Given the description of an element on the screen output the (x, y) to click on. 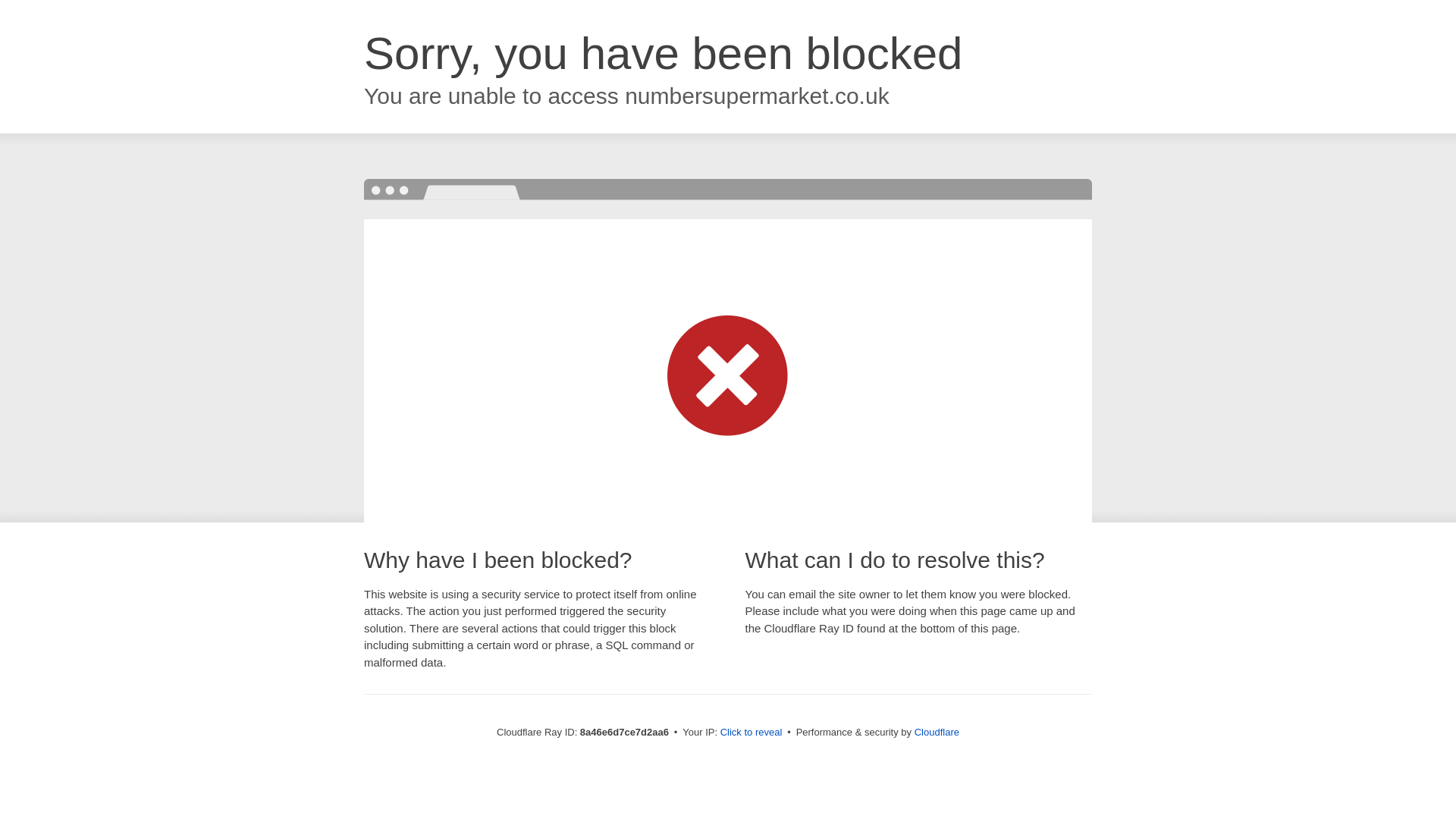
Cloudflare (936, 731)
Click to reveal (751, 732)
